Given the description of an element on the screen output the (x, y) to click on. 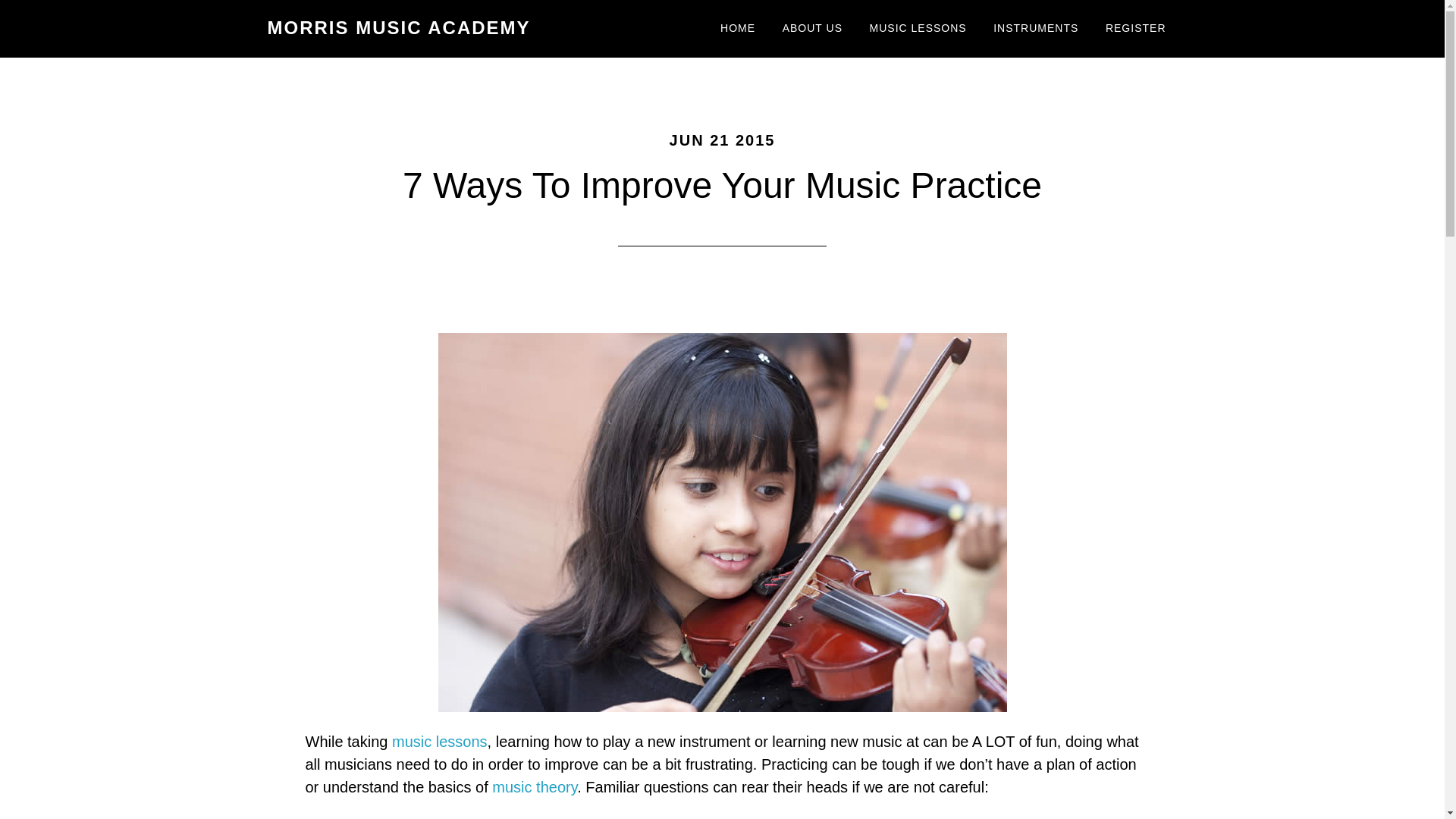
ABOUT US (812, 28)
MORRIS MUSIC ACADEMY (397, 27)
music lessons (439, 741)
HOME (738, 28)
MUSIC LESSONS (918, 28)
REGISTER (1135, 28)
INSTRUMENTS (1035, 28)
music theory (534, 786)
